Given the description of an element on the screen output the (x, y) to click on. 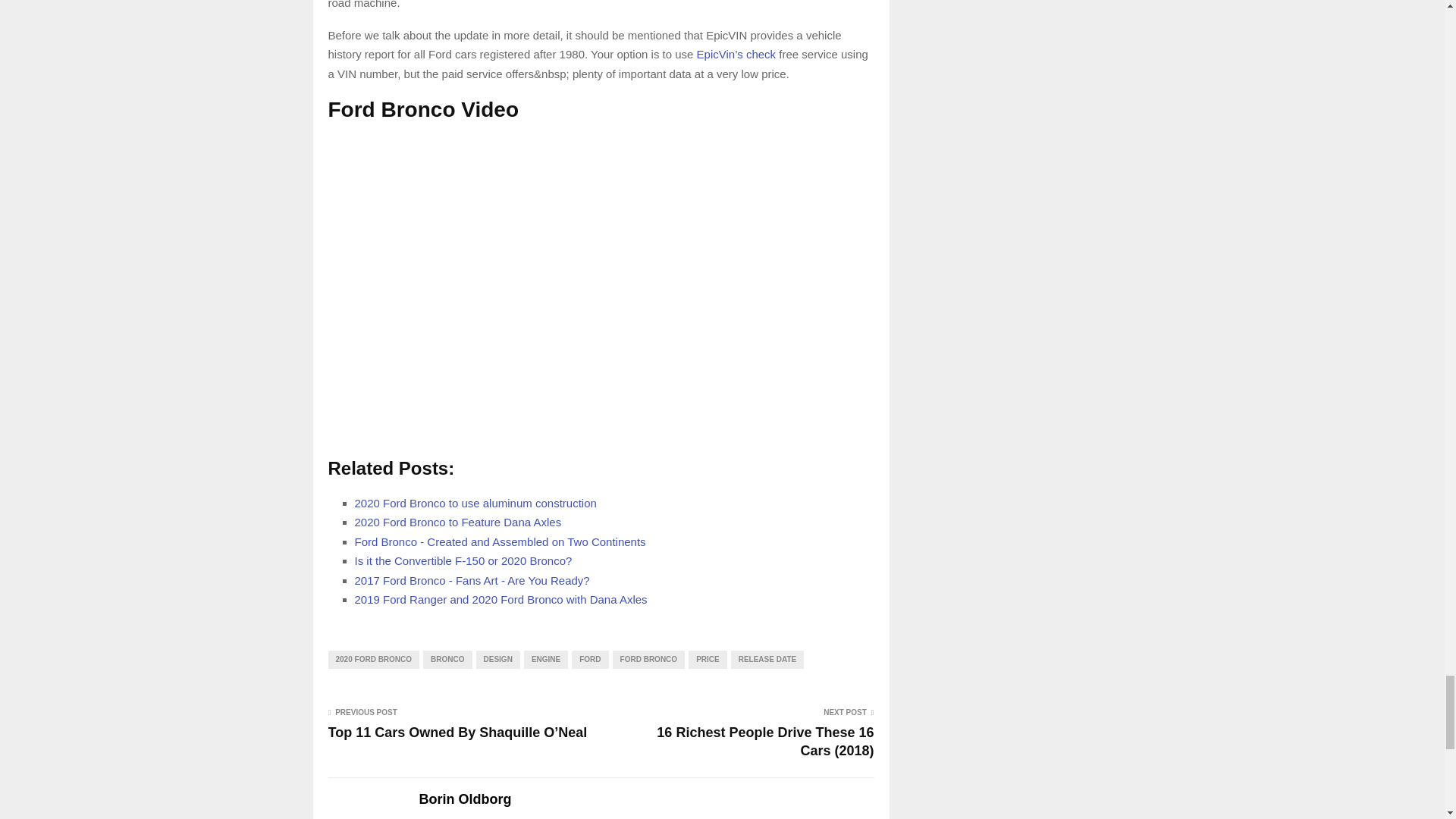
Posts by Borin Oldborg (465, 799)
